Given the description of an element on the screen output the (x, y) to click on. 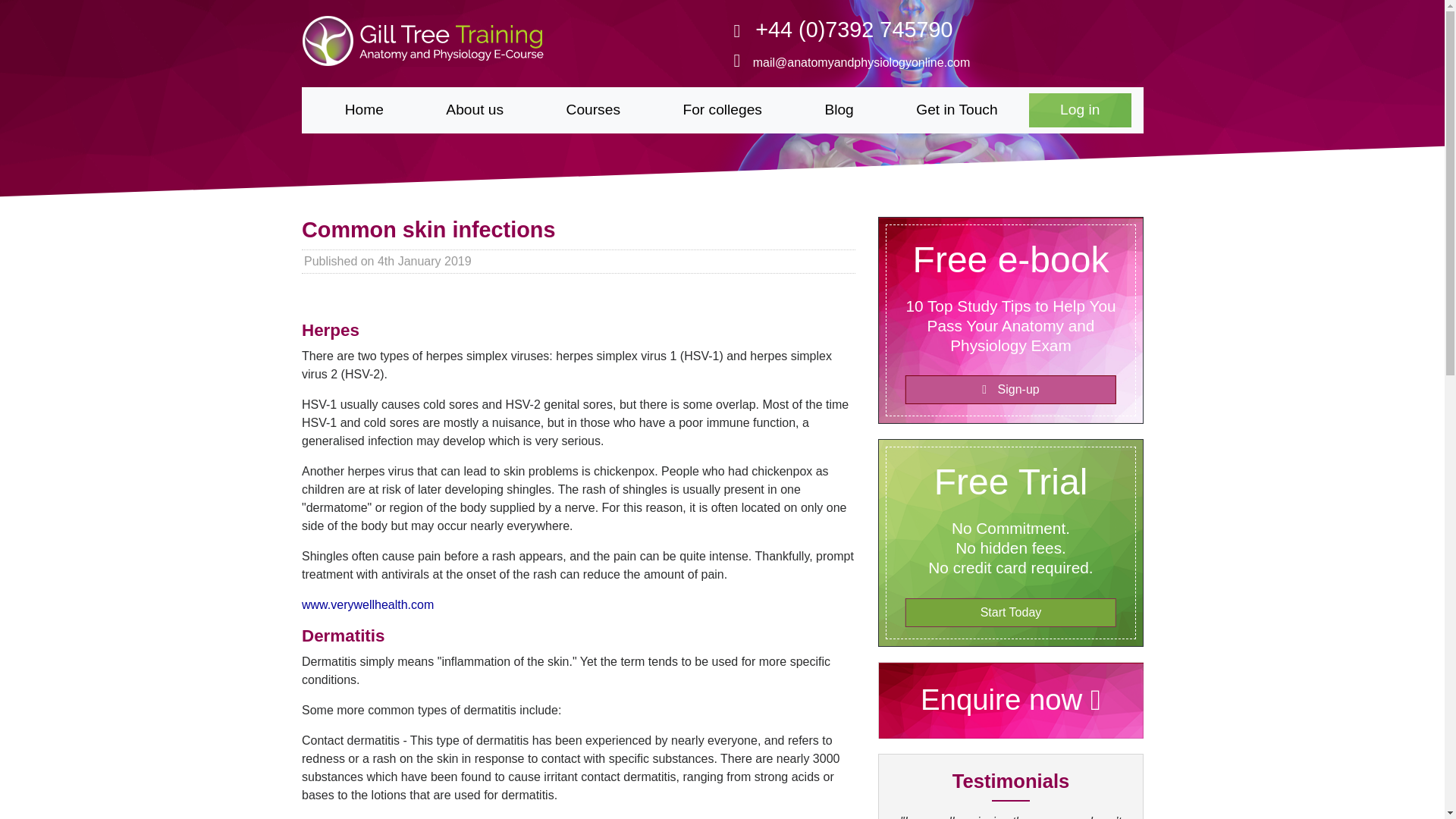
Home (364, 110)
www.verywellhealth.com (367, 604)
Get in Touch (957, 110)
For colleges (721, 110)
About us (474, 110)
Sign-up (1009, 389)
Blog (839, 110)
Courses (592, 110)
Log in (1080, 110)
